Given the description of an element on the screen output the (x, y) to click on. 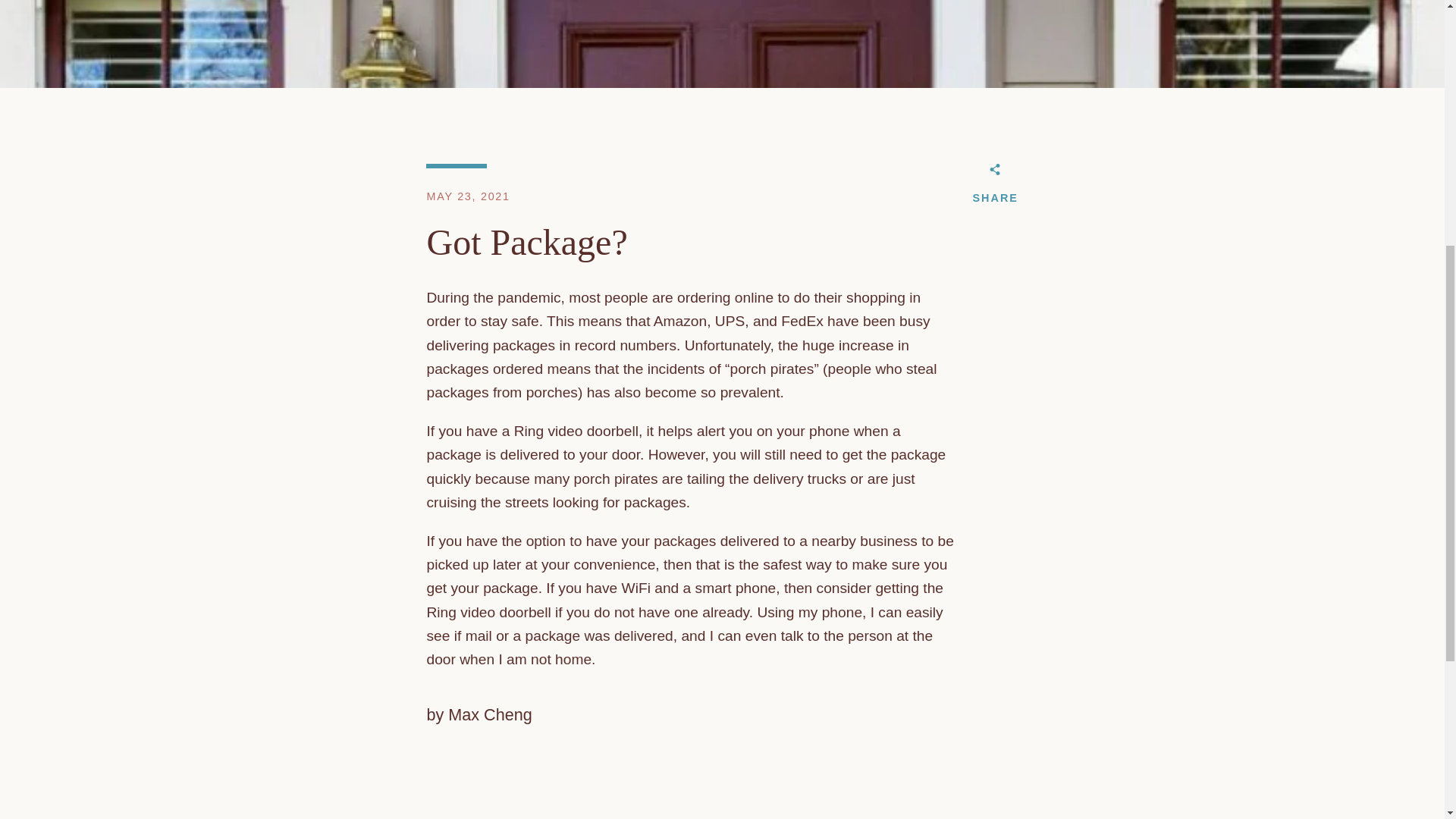
Discover (988, 292)
countryclubpark on Instagram (426, 302)
American Express (883, 292)
Meta Pay (1022, 292)
Mastercard (918, 316)
Diners Club (953, 292)
countryclubpark on Facebook (372, 302)
Venmo (1022, 316)
Visa (1057, 316)
Apple Pay (918, 292)
Shop Pay (988, 316)
SHARE (994, 186)
PayPal (953, 316)
LOG IN TO YOUR CCPNA ACCOUNT HERE (496, 111)
countryclubpark on Twitter (400, 302)
